Given the description of an element on the screen output the (x, y) to click on. 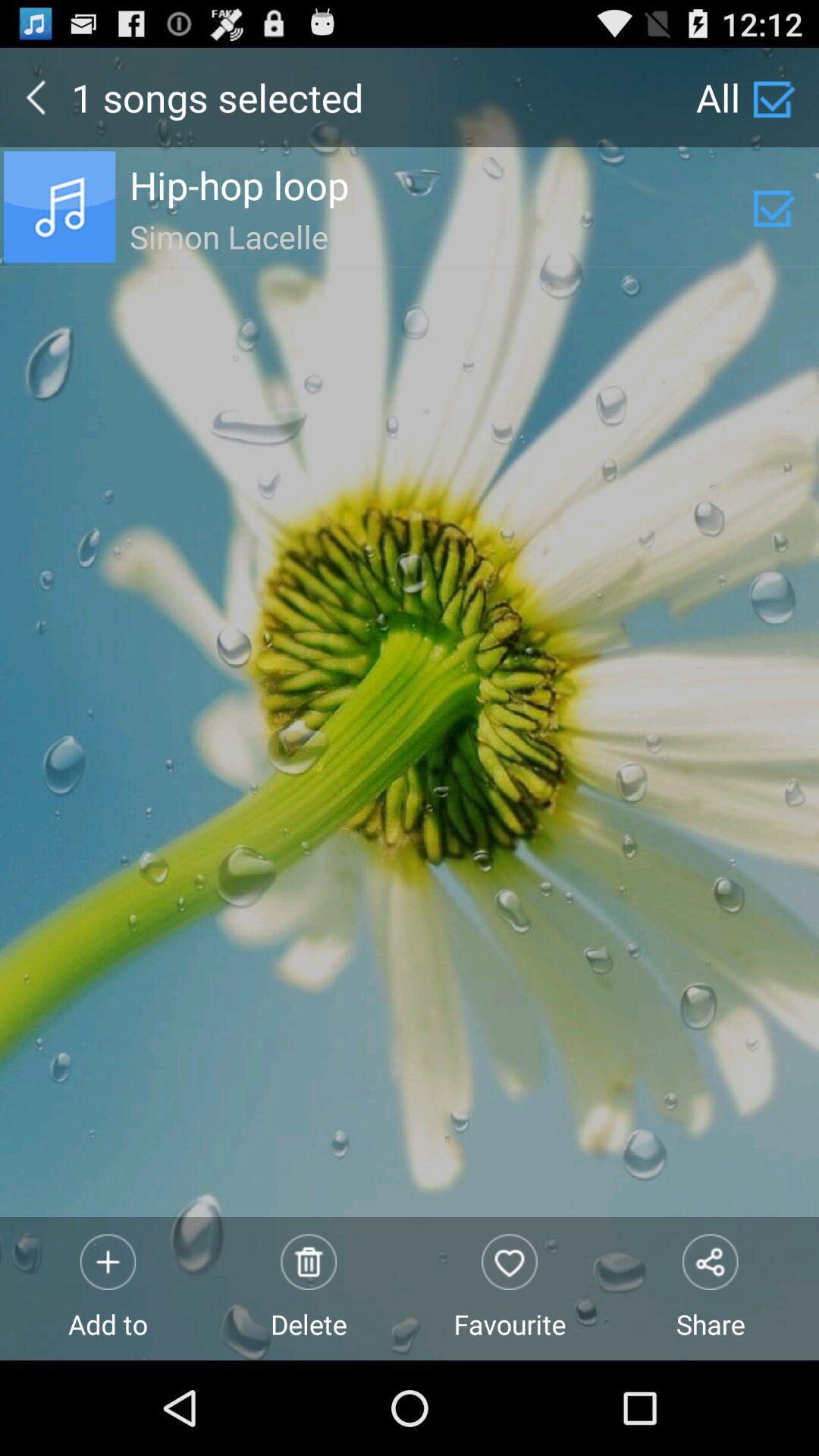
press the app at the bottom right corner (710, 1288)
